Given the description of an element on the screen output the (x, y) to click on. 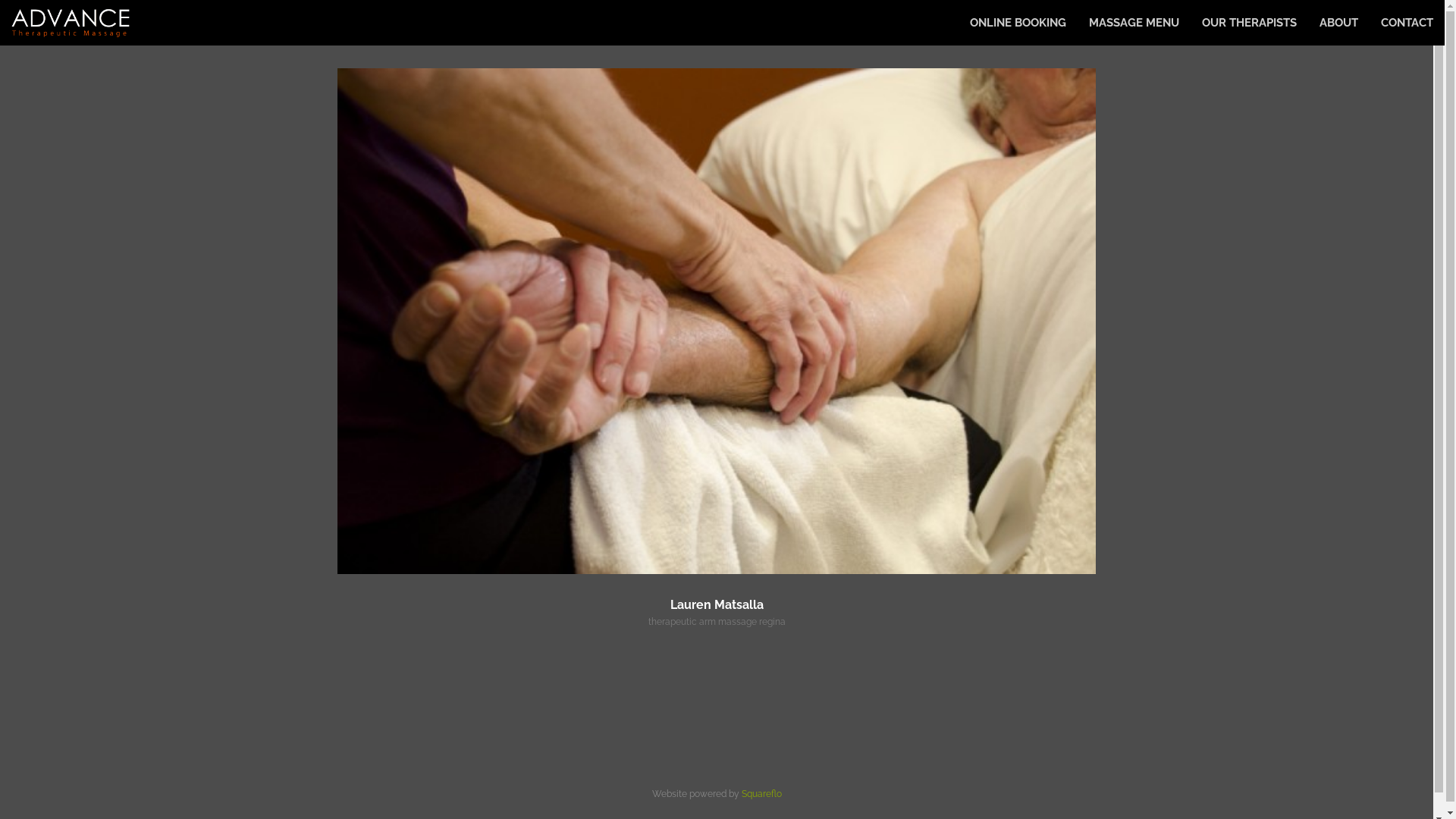
ONLINE BOOKING Element type: text (1017, 22)
MASSAGE MENU Element type: text (1133, 22)
Squareflo Element type: text (761, 793)
OUR THERAPISTS Element type: text (1249, 22)
ABOUT Element type: text (1338, 22)
CONTACT Element type: text (1406, 22)
